Given the description of an element on the screen output the (x, y) to click on. 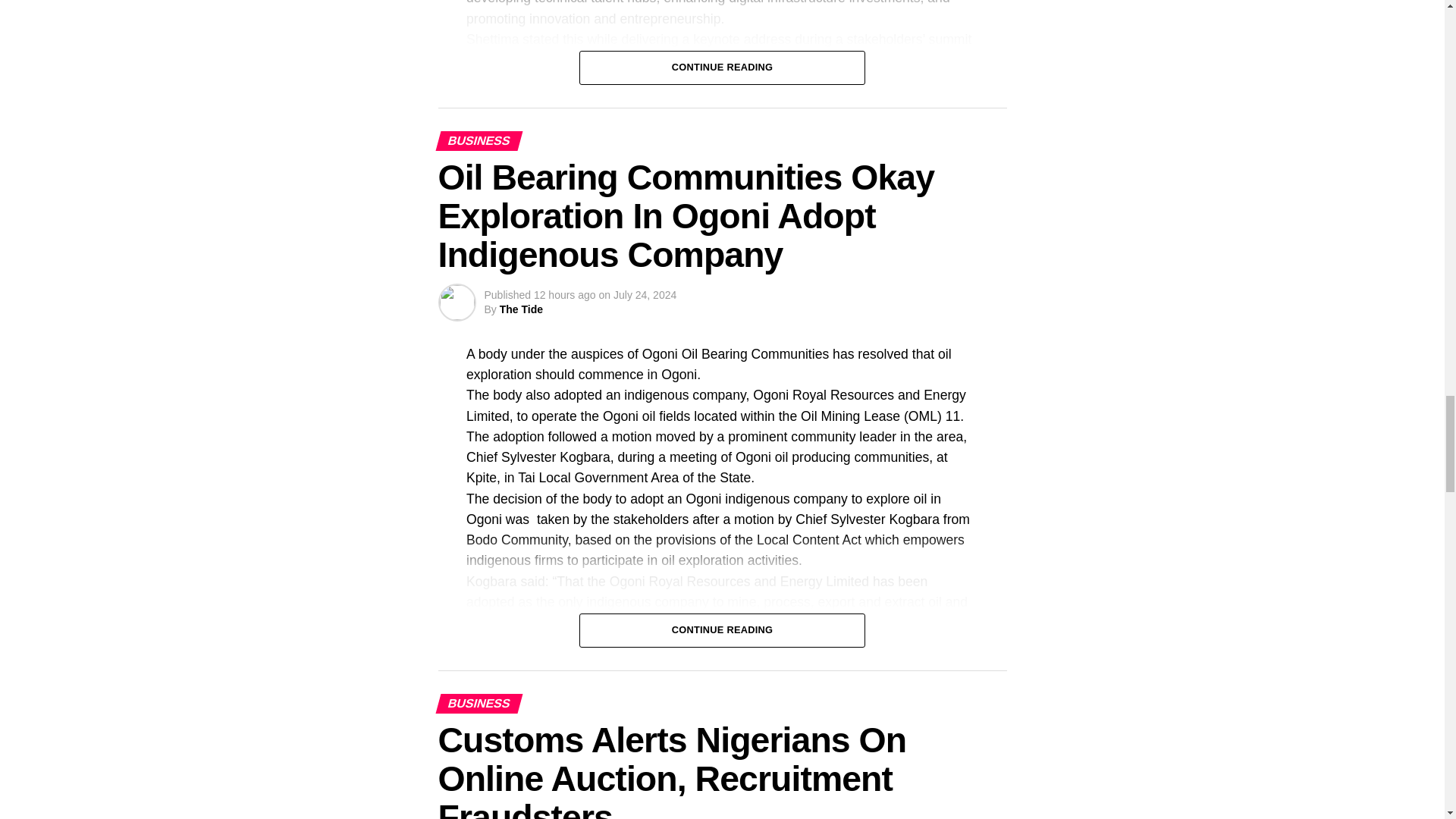
Posts by The Tide (521, 309)
